Given the description of an element on the screen output the (x, y) to click on. 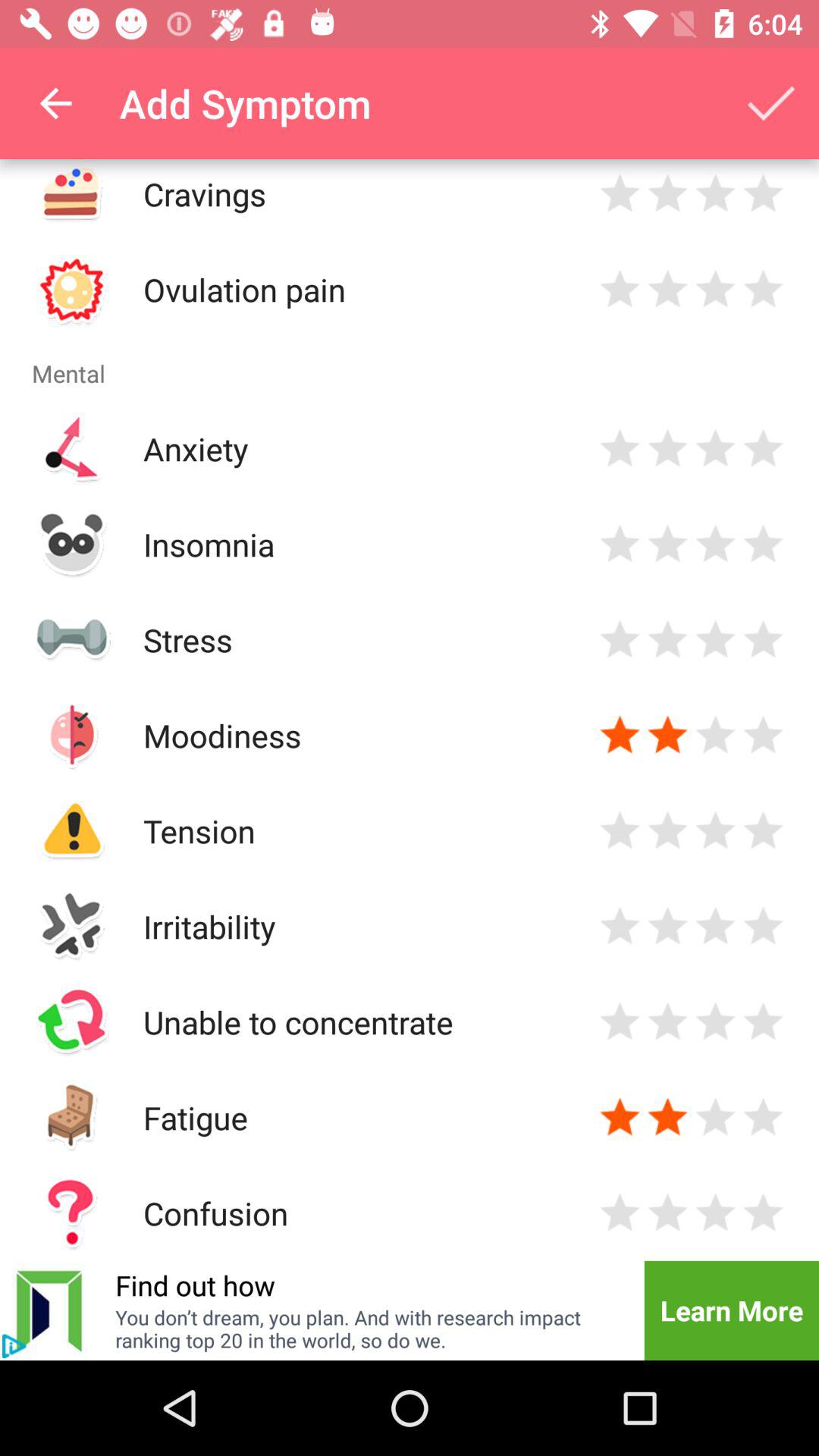
rank insomnia two stars (667, 544)
